Given the description of an element on the screen output the (x, y) to click on. 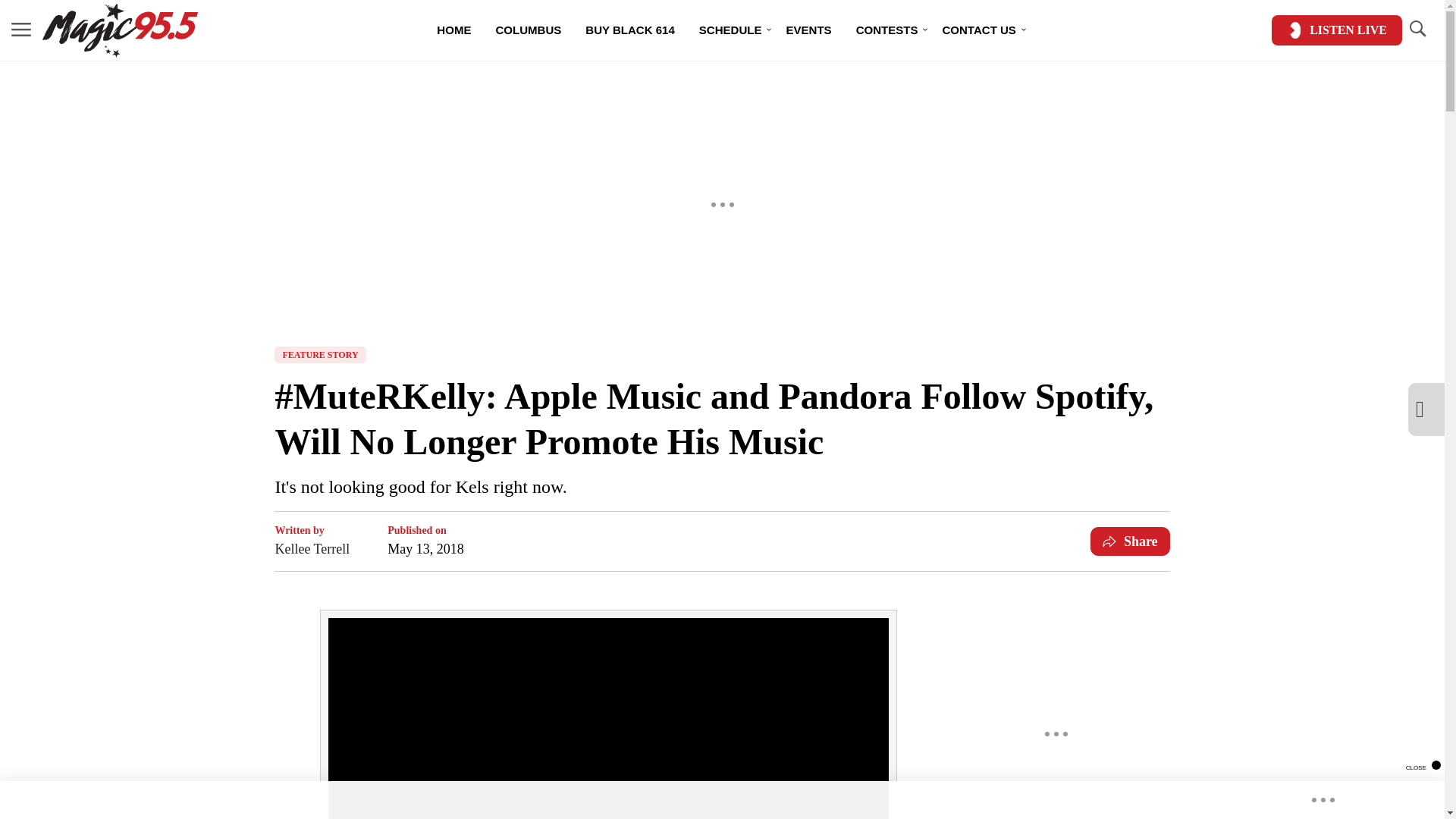
CONTACT US (978, 30)
TOGGLE SEARCH (1417, 28)
LISTEN LIVE (1336, 30)
CONTESTS (887, 30)
MENU (20, 30)
Kellee Terrell (312, 548)
HOME (454, 30)
BUY BLACK 614 (630, 30)
FEATURE STORY (320, 354)
TOGGLE SEARCH (1417, 30)
SCHEDULE (730, 30)
EVENTS (808, 30)
MENU (20, 29)
Share (1130, 541)
COLUMBUS (528, 30)
